Given the description of an element on the screen output the (x, y) to click on. 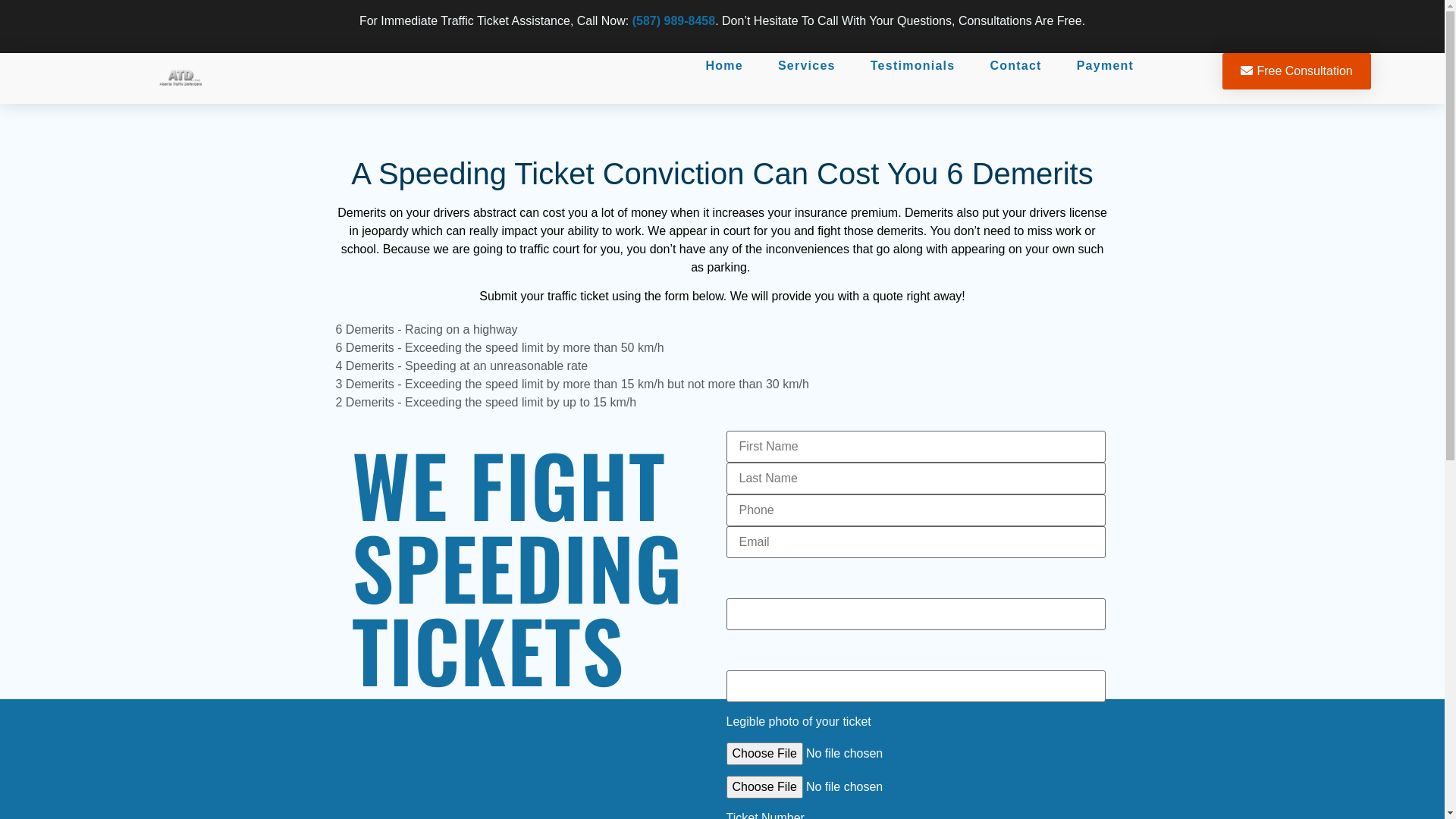
Free Consultation Element type: text (1296, 71)
Contact Element type: text (1015, 65)
Payment Element type: text (1104, 65)
Services Element type: text (806, 65)
(587) 989-8458 Element type: text (673, 20)
Testimonials Element type: text (912, 65)
Home Element type: text (723, 65)
